Given the description of an element on the screen output the (x, y) to click on. 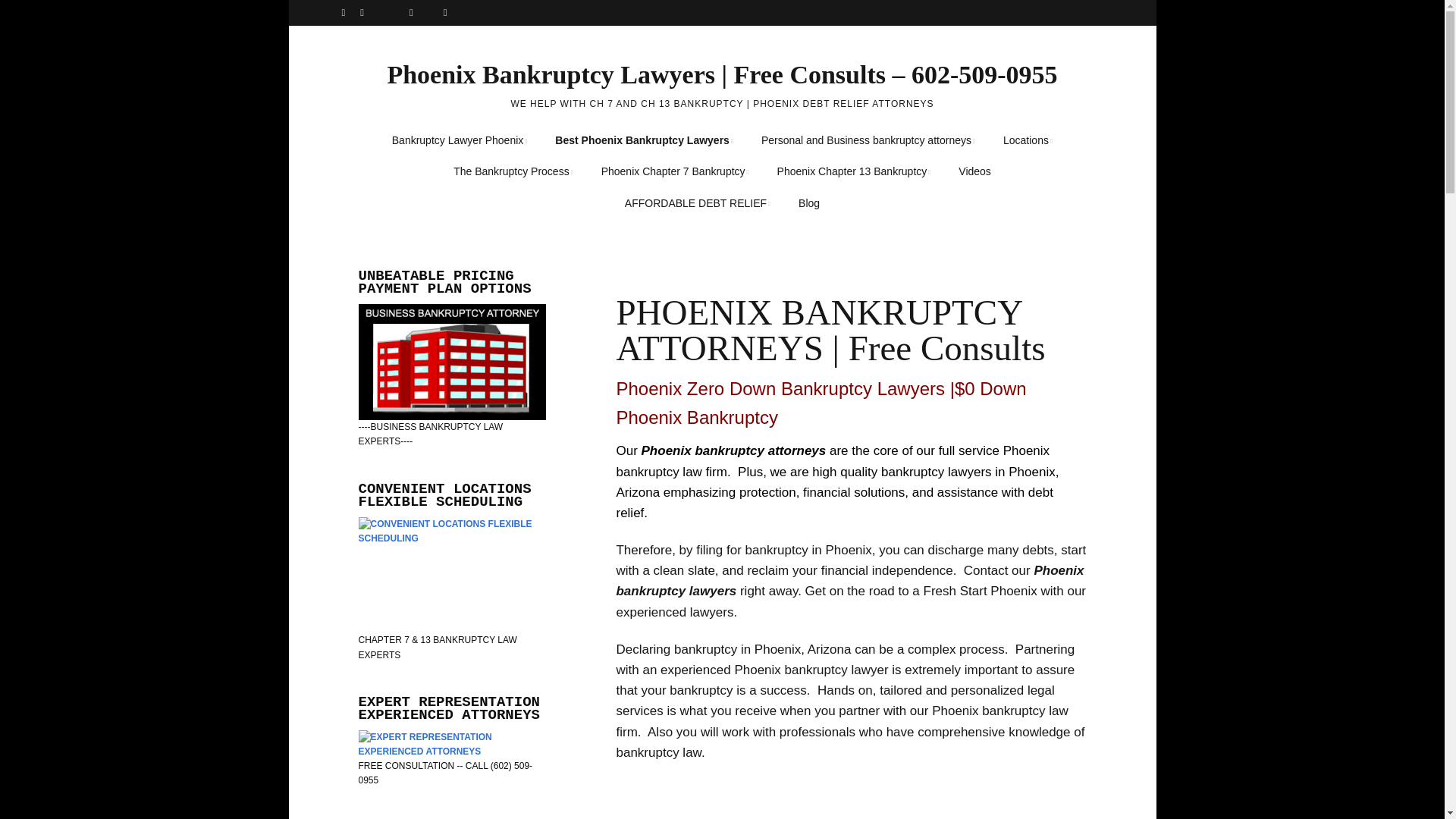
Bankruptcy Lawyer Phoenix (460, 141)
Personal and Business bankruptcy attorneys (868, 141)
Locations (1027, 141)
Phoenix Bankruptcy Lawyers (460, 141)
Phoenix Bankruptcy Attorneys Trusted (644, 141)
Best Phoenix Bankruptcy Lawyers (644, 141)
